Given the description of an element on the screen output the (x, y) to click on. 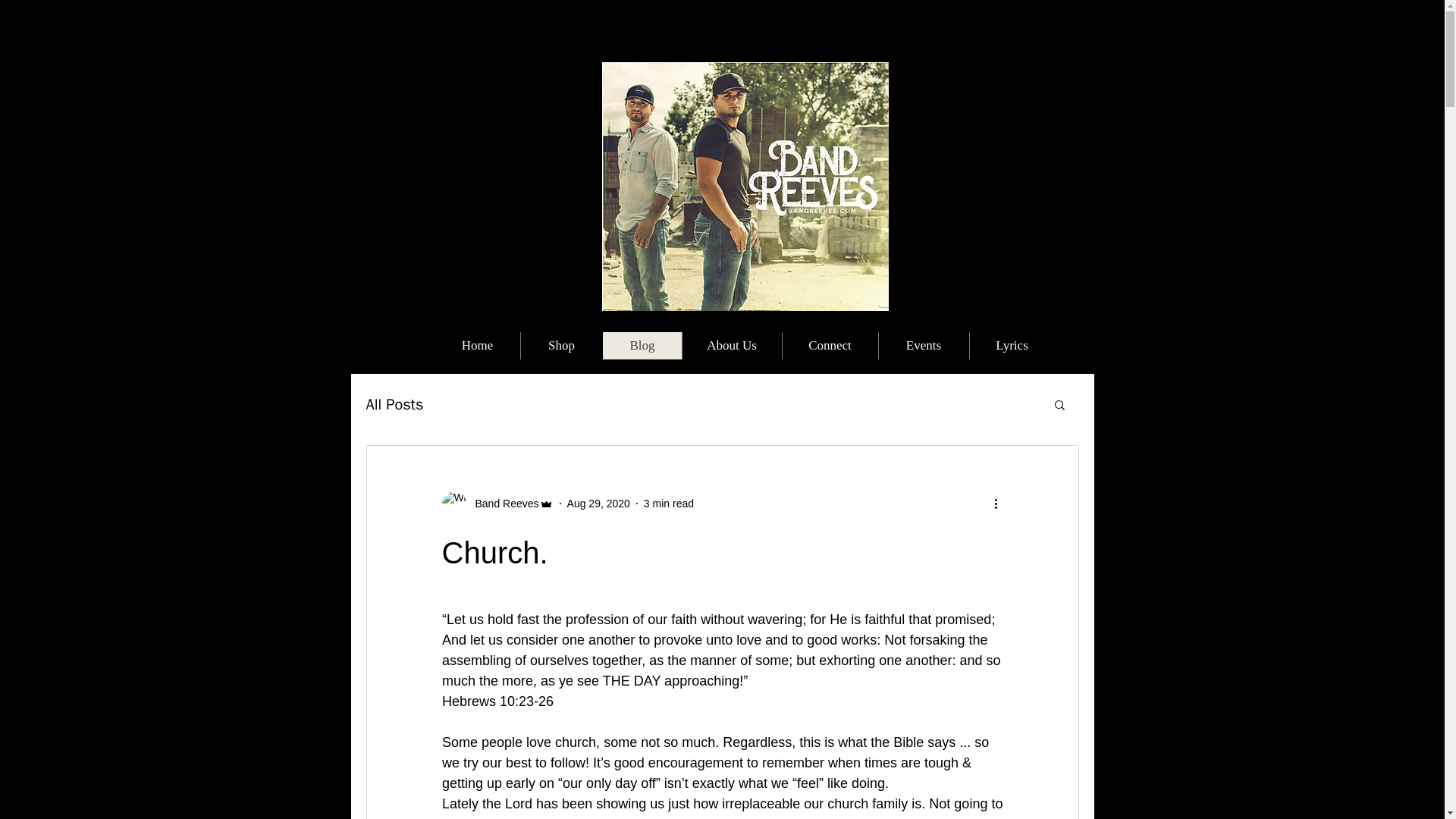
Blog (641, 345)
Church. (494, 552)
Connect (828, 345)
Shop (560, 345)
Aug 29, 2020 (598, 503)
Lyrics (1011, 345)
Band Reeves (497, 503)
All Posts (394, 403)
Events (923, 345)
About Us (730, 345)
3 min read (668, 503)
Home (477, 345)
Band Reeves (501, 503)
